Given the description of an element on the screen output the (x, y) to click on. 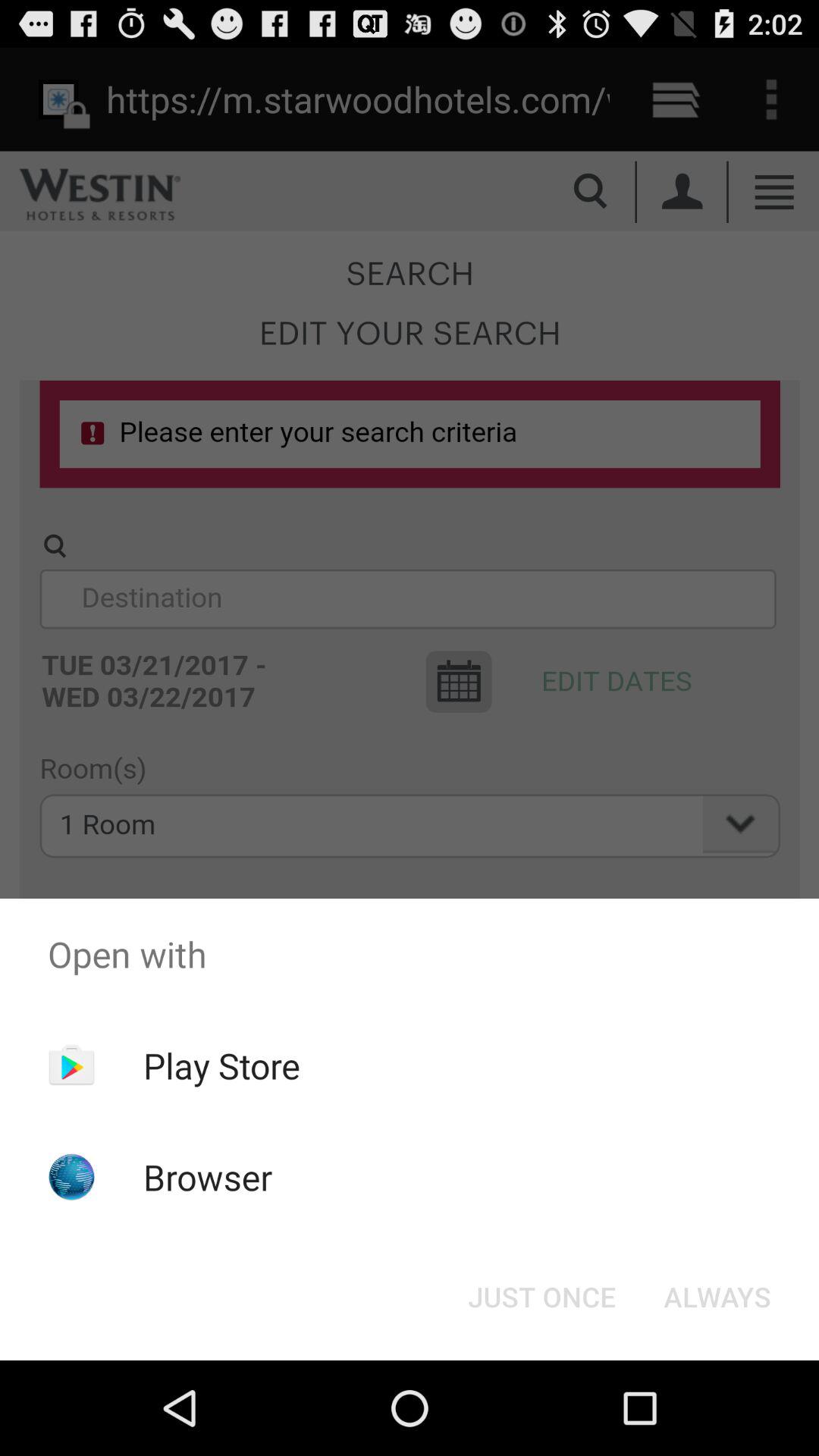
tap the item below open with icon (541, 1296)
